Given the description of an element on the screen output the (x, y) to click on. 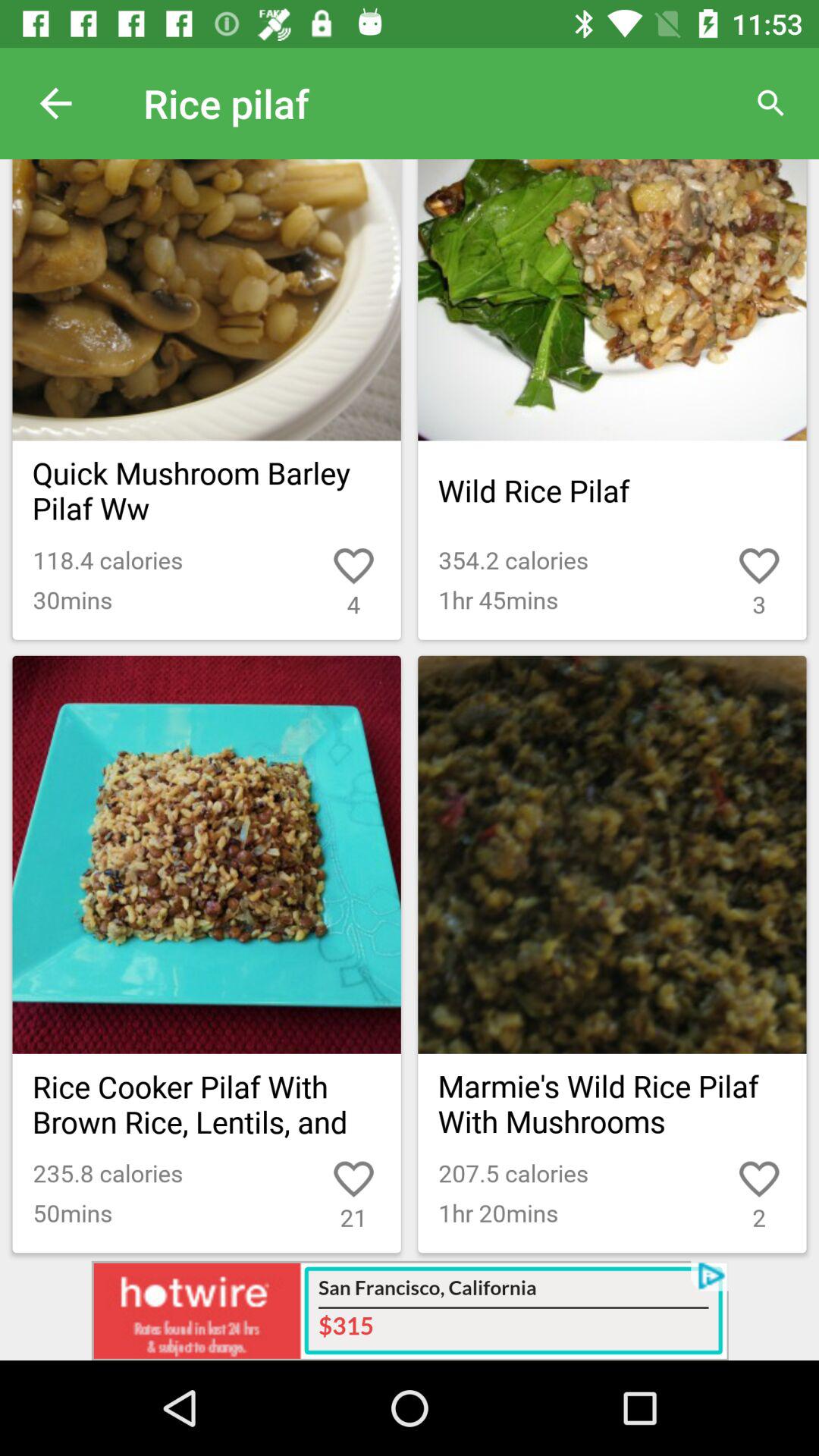
select the image which is below rice cooker pilaf with brown ricelentils and (207, 855)
select wild rice pilaf (612, 490)
1st row 1st image of the page (207, 299)
click on search bar below time (771, 103)
select the second box (611, 399)
